Given the description of an element on the screen output the (x, y) to click on. 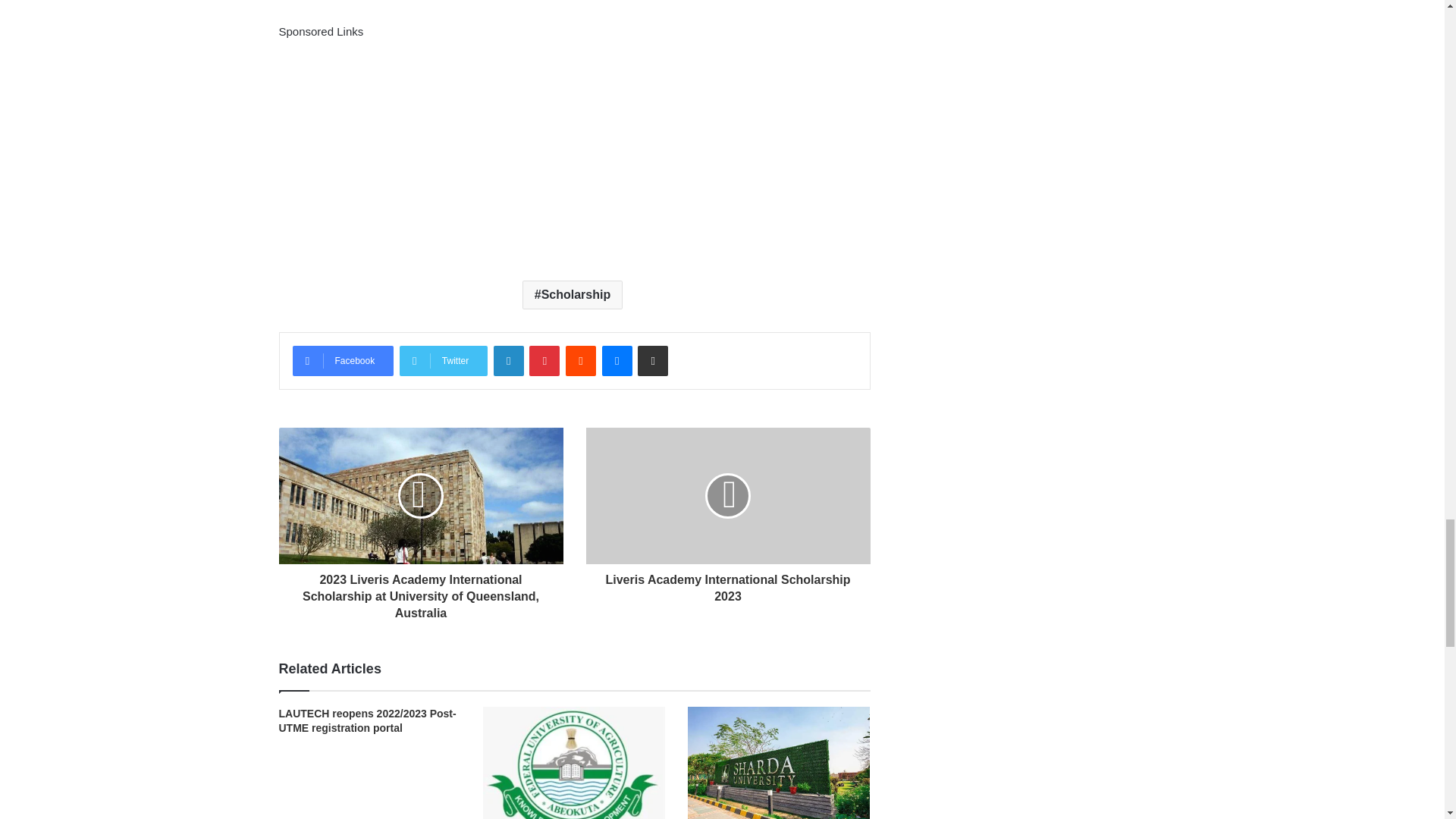
Scholarship (572, 294)
LinkedIn (508, 360)
Facebook (343, 360)
Pinterest (544, 360)
LinkedIn (508, 360)
Messenger (616, 360)
Share via Email (652, 360)
Reddit (580, 360)
Messenger (616, 360)
